Given the description of an element on the screen output the (x, y) to click on. 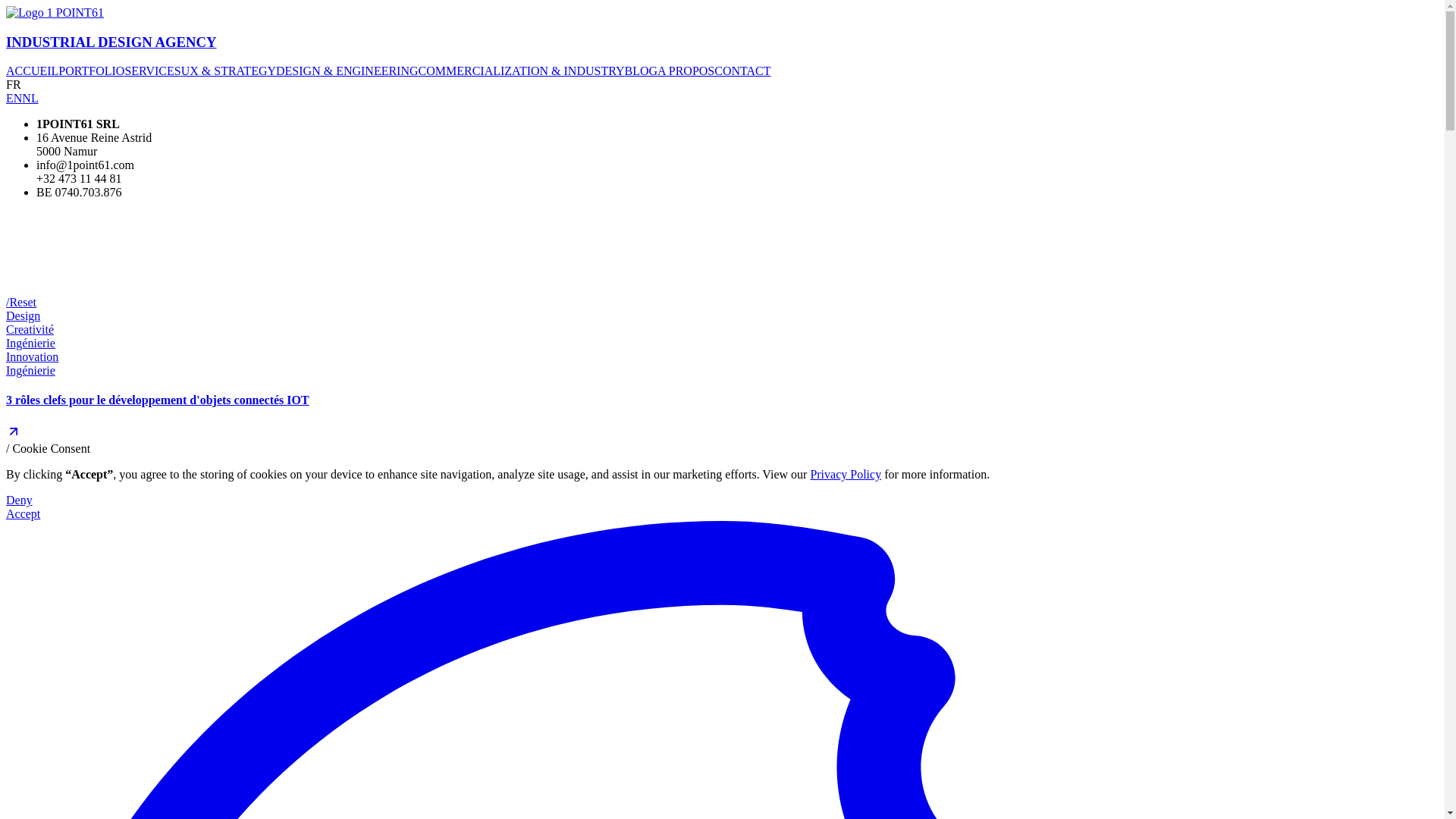
Privacy Policy Element type: text (845, 473)
UX & STRATEGY Element type: text (228, 70)
/Reset Element type: text (21, 301)
CONTACT Element type: text (742, 70)
COMMERCIALIZATION & INDUSTRY Element type: text (521, 70)
EN Element type: text (13, 97)
BLOG Element type: text (641, 70)
Deny Element type: text (722, 500)
Innovation Element type: text (32, 356)
DESIGN & ENGINEERING Element type: text (347, 70)
INDUSTRIAL DESIGN AGENCY Element type: text (722, 28)
Accept Element type: text (722, 513)
Design Element type: text (23, 315)
ACCUEIL Element type: text (32, 70)
NL Element type: text (29, 97)
PORTFOLIO Element type: text (91, 70)
A PROPOS Element type: text (685, 70)
SERVICES Element type: text (152, 70)
